Given the description of an element on the screen output the (x, y) to click on. 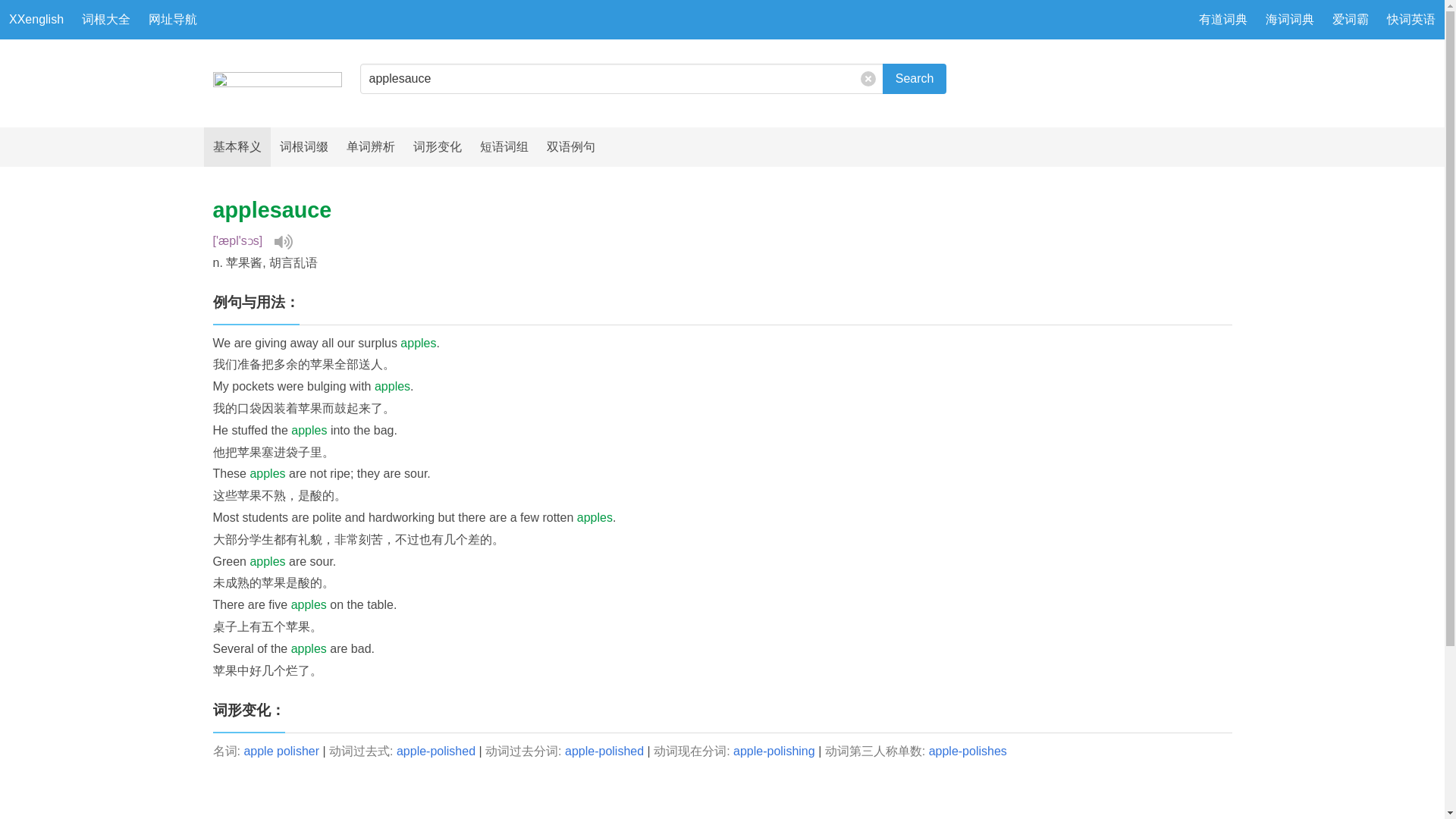
applesauce (620, 78)
XXenglish (36, 19)
apple polisher (280, 750)
apple-polishes (967, 750)
apple-polished (603, 750)
Search (914, 78)
apple-polishing (774, 750)
apple-polished (436, 750)
